Given the description of an element on the screen output the (x, y) to click on. 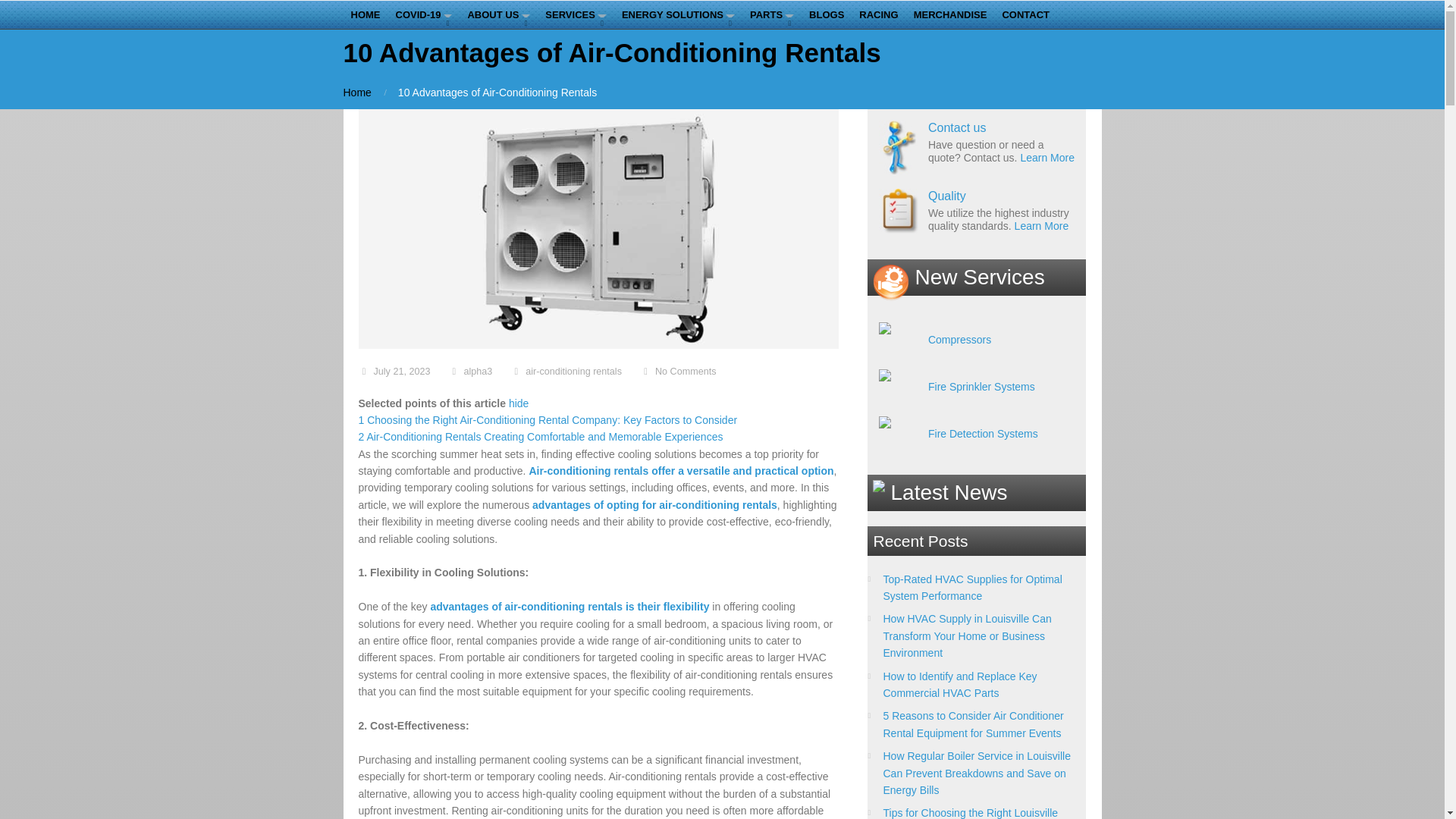
View all posts by alpha3 (477, 371)
SERVICES (575, 14)
ENERGY SOLUTIONS (678, 14)
ABOUT US (498, 14)
COVID-19 (424, 14)
10 Advantages of Air-Conditioning Rentals 1 (598, 228)
HOME (364, 14)
